Given the description of an element on the screen output the (x, y) to click on. 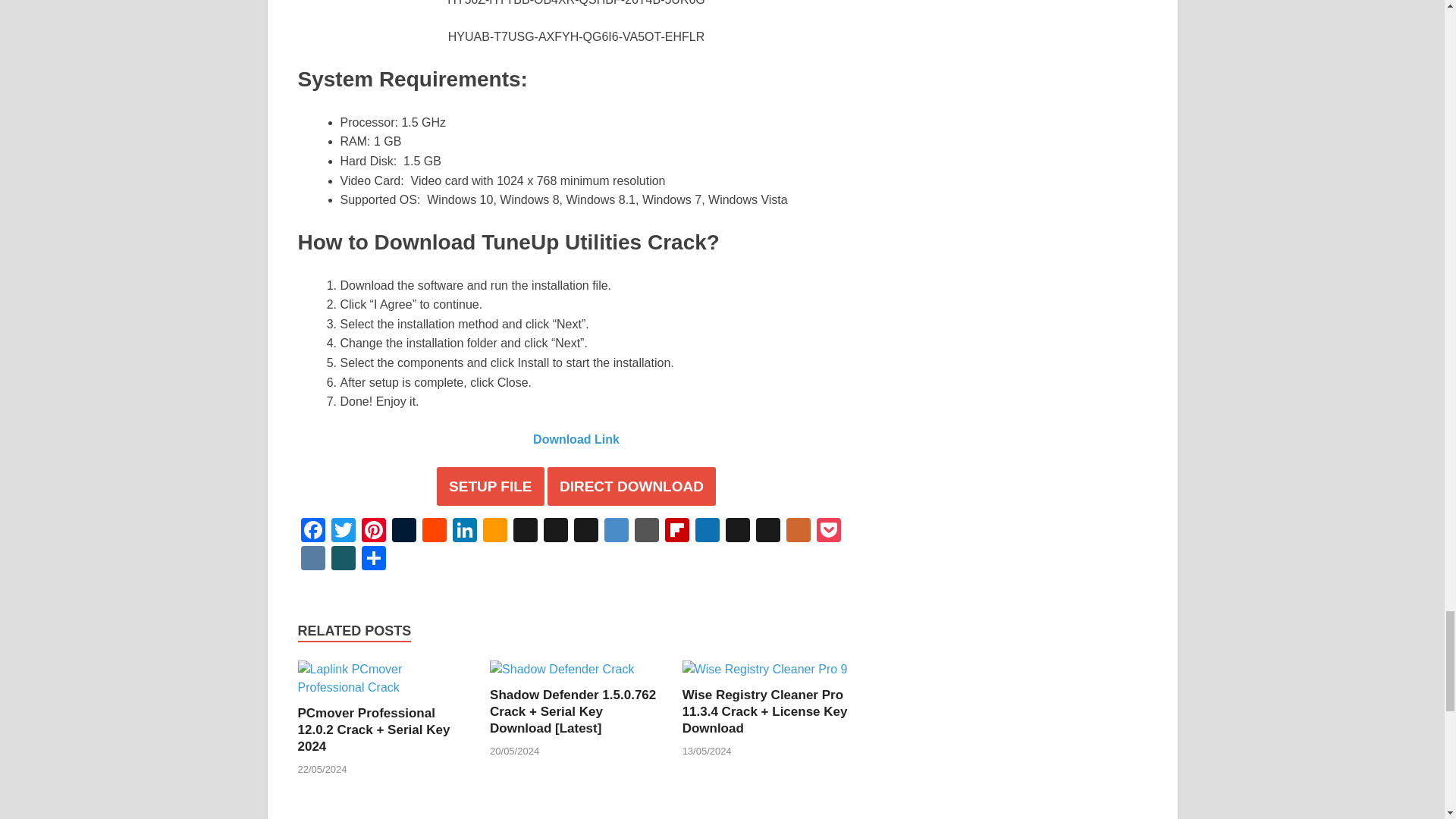
BibSonomy (524, 531)
Diigo (614, 531)
MySpace (767, 531)
Fark (645, 531)
Twitter (342, 531)
Digg (584, 531)
Instapaper (737, 531)
Amazon Wish List (494, 531)
Flipboard (676, 531)
Reddit (433, 531)
